Given the description of an element on the screen output the (x, y) to click on. 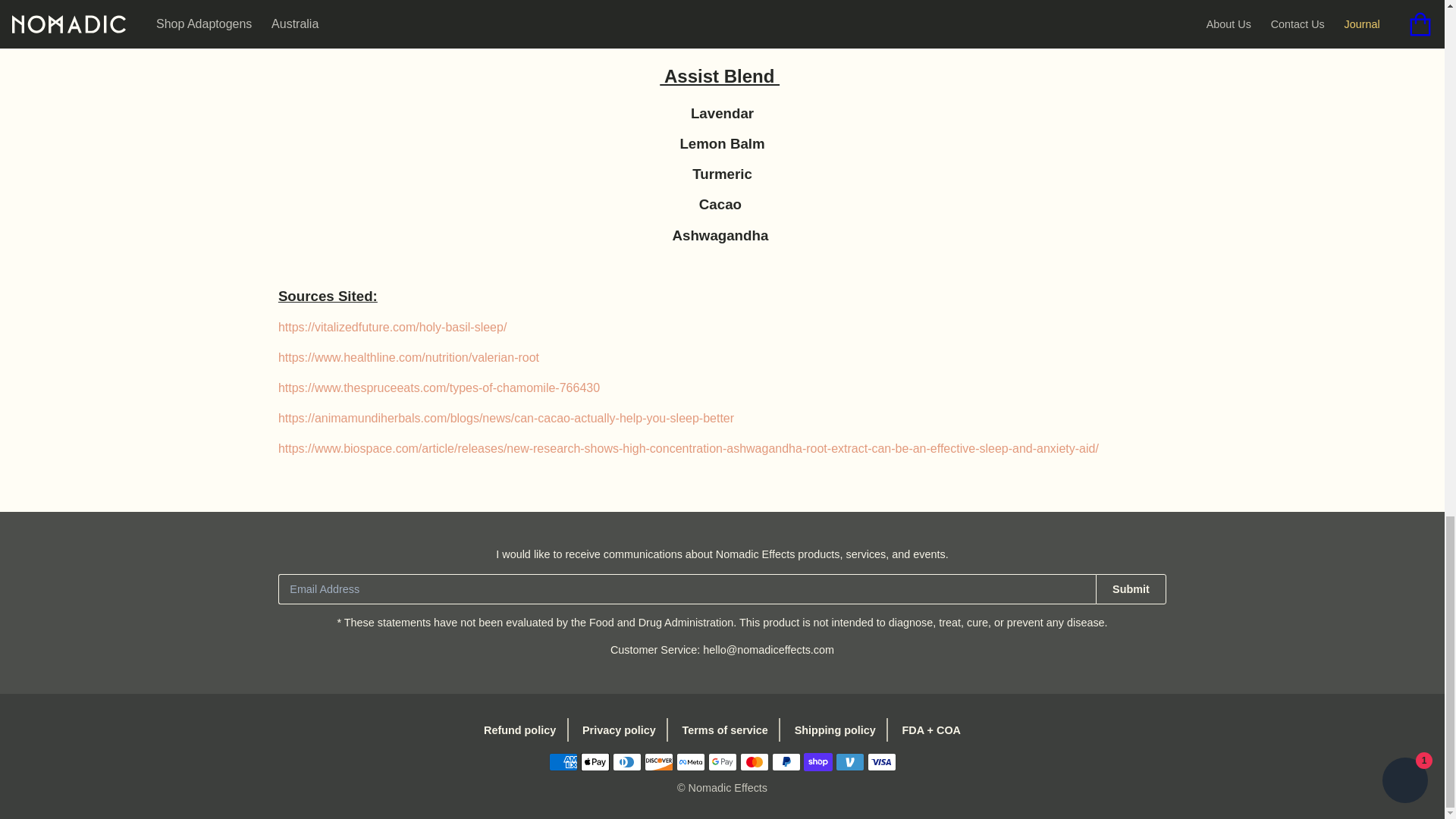
Apple Pay (595, 761)
Diners Club (627, 761)
Submit (1131, 589)
Venmo (849, 761)
Meta Pay (690, 761)
Google Pay (721, 761)
Visa (881, 761)
PayPal (785, 761)
Shop Pay (817, 761)
Discover (658, 761)
Terms of service (725, 730)
Refund policy (526, 730)
Privacy policy (620, 730)
American Express (563, 761)
Mastercard (753, 761)
